Given the description of an element on the screen output the (x, y) to click on. 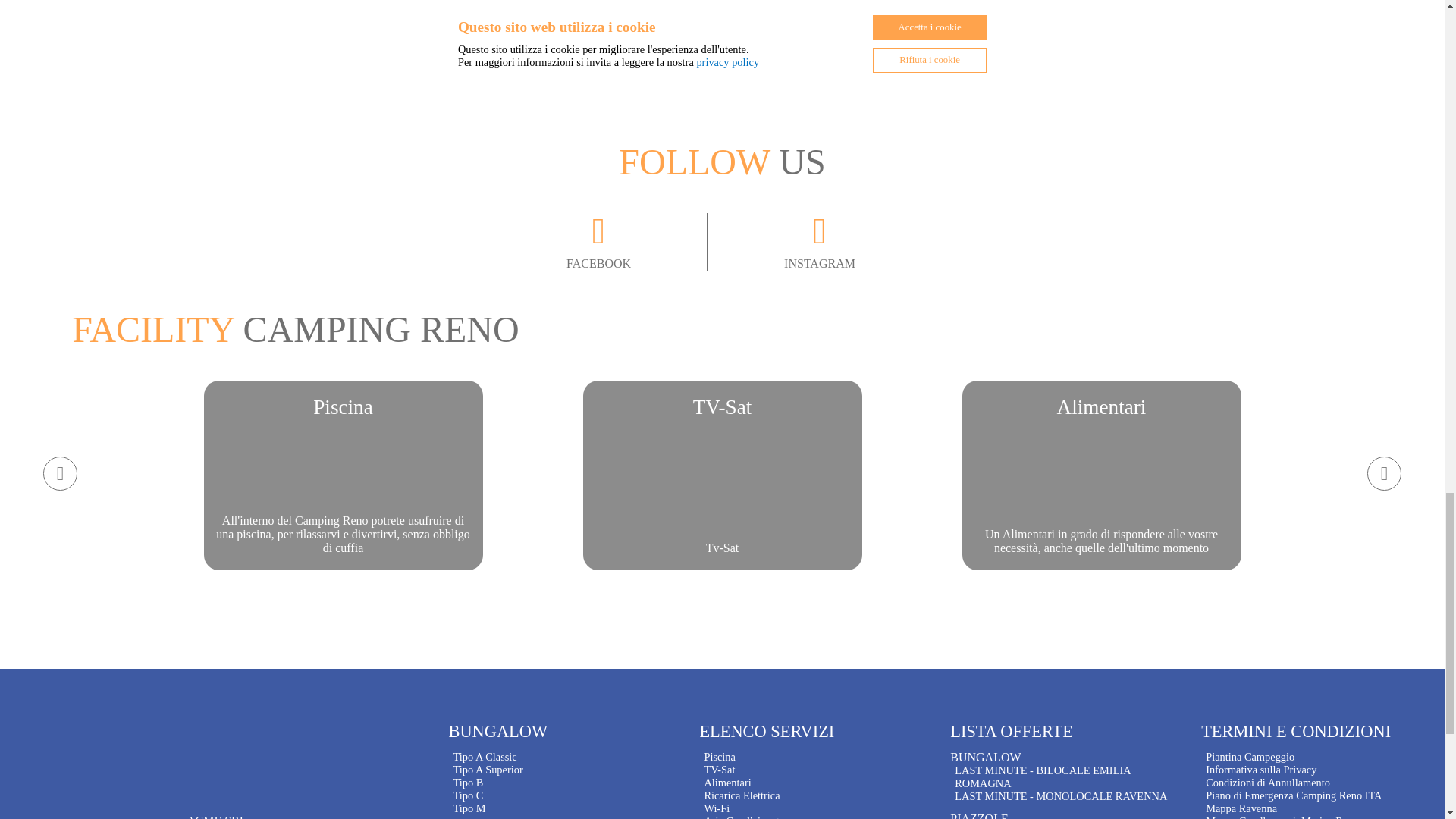
Per qualsiasi informazioni o prenotazione scrivere a: (876, 57)
FACEBOOK (721, 475)
Per qualsiasi informazioni o prenotazione scrivere a: (636, 241)
INSTAGRAM (129, 16)
